Given the description of an element on the screen output the (x, y) to click on. 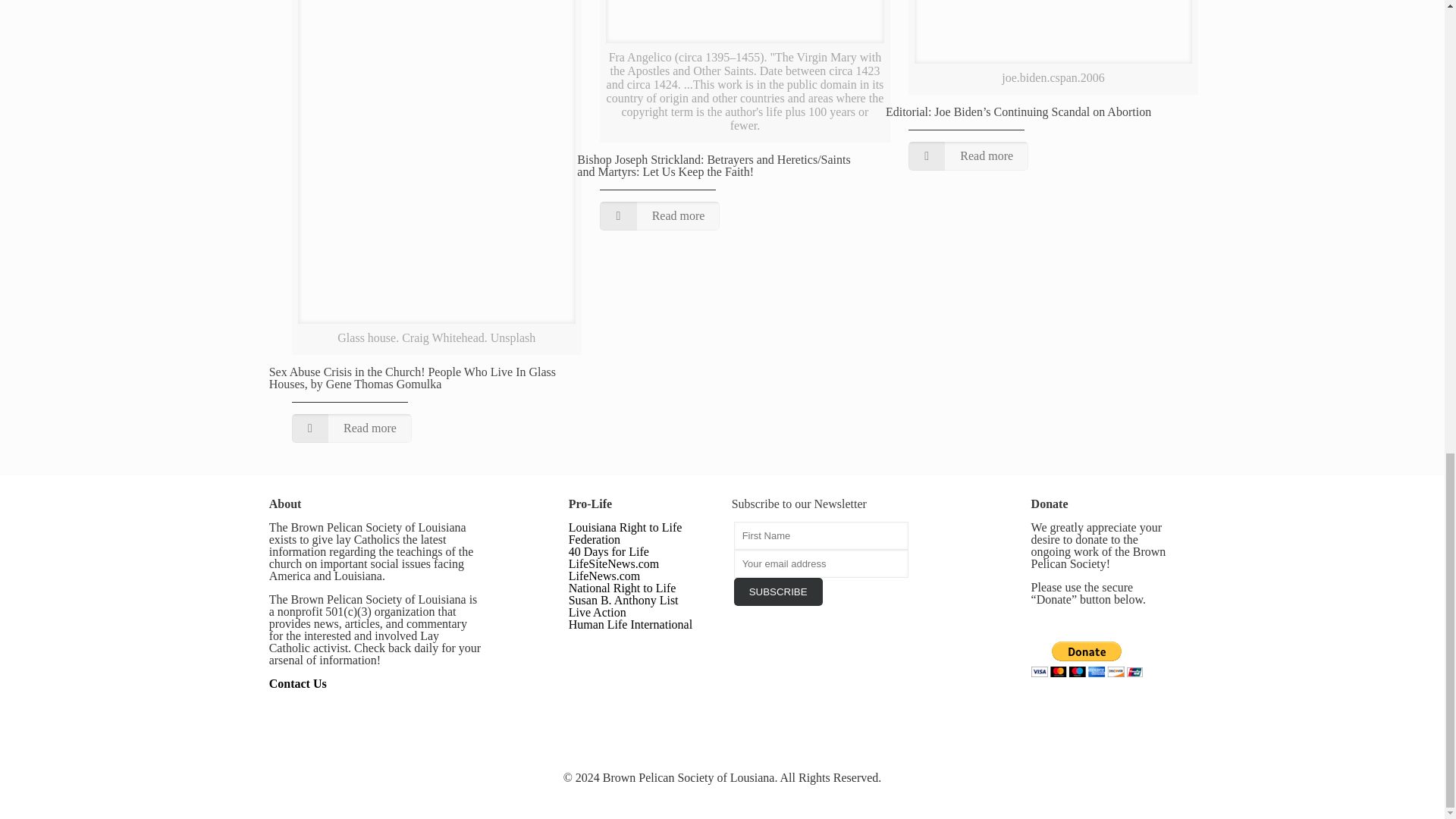
Read more (352, 428)
LinkedIn (743, 797)
Read more (659, 215)
SUBSCRIBE (777, 592)
Twitter (722, 797)
Facebook (702, 797)
